Given the description of an element on the screen output the (x, y) to click on. 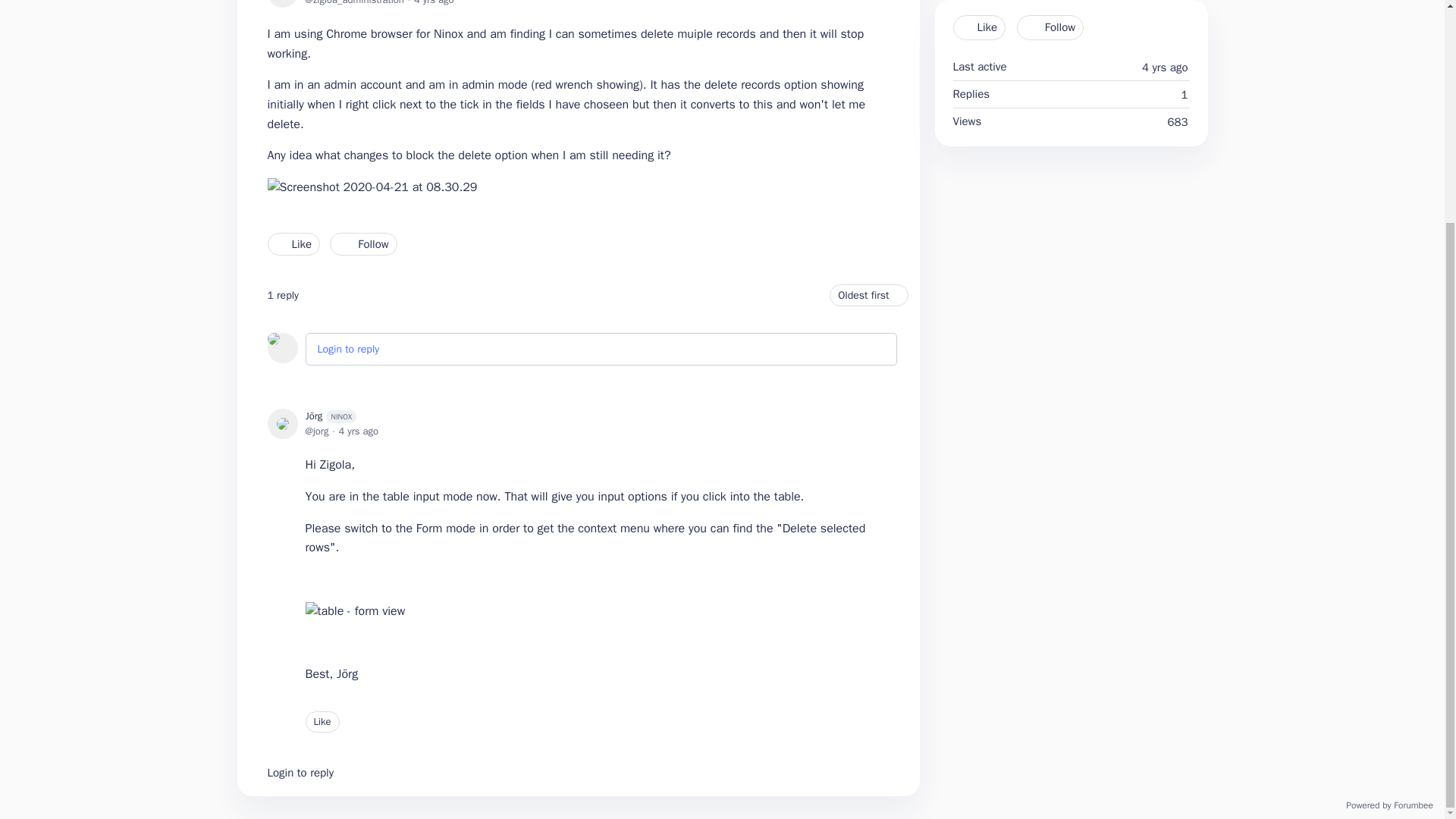
Follow (363, 243)
Powered by Forumbee (1388, 805)
Like (293, 243)
Like (321, 721)
Login to reply (299, 772)
Login to reply (347, 349)
Oldest first (868, 295)
